Given the description of an element on the screen output the (x, y) to click on. 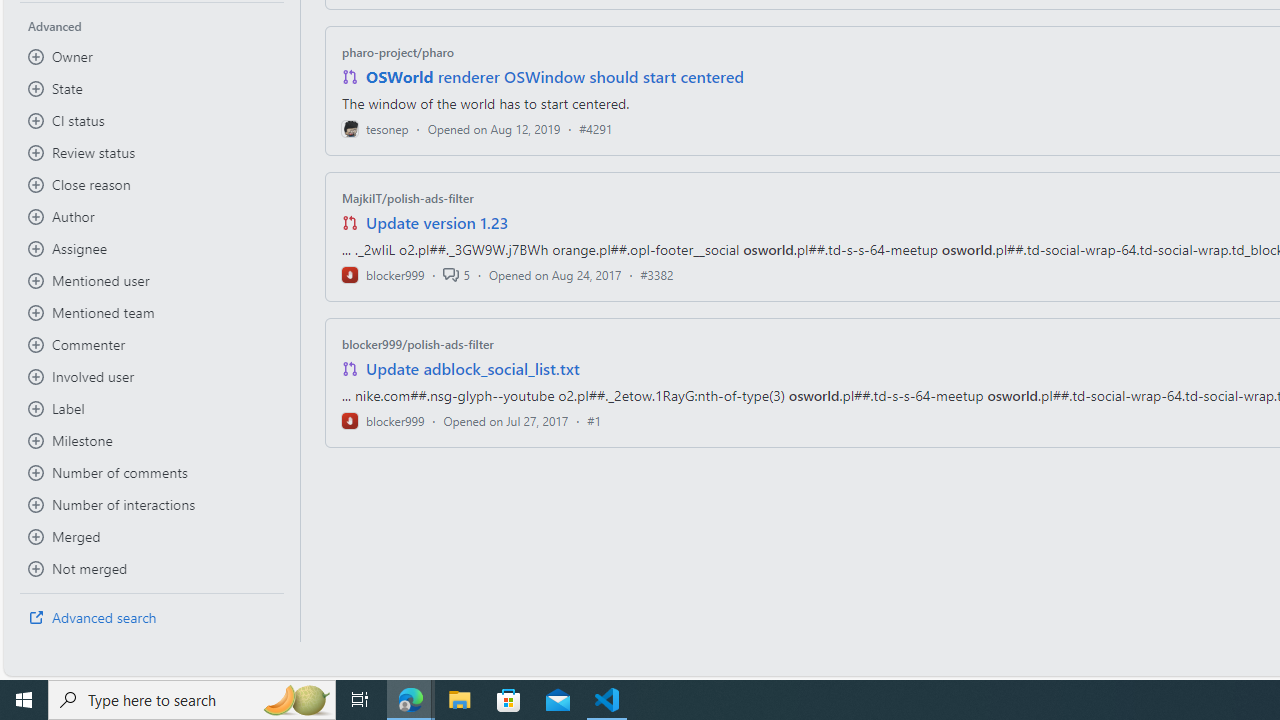
Advanced search (152, 617)
tesonep (375, 128)
OSWorld renderer OSWindow should start centered (554, 76)
